Given the description of an element on the screen output the (x, y) to click on. 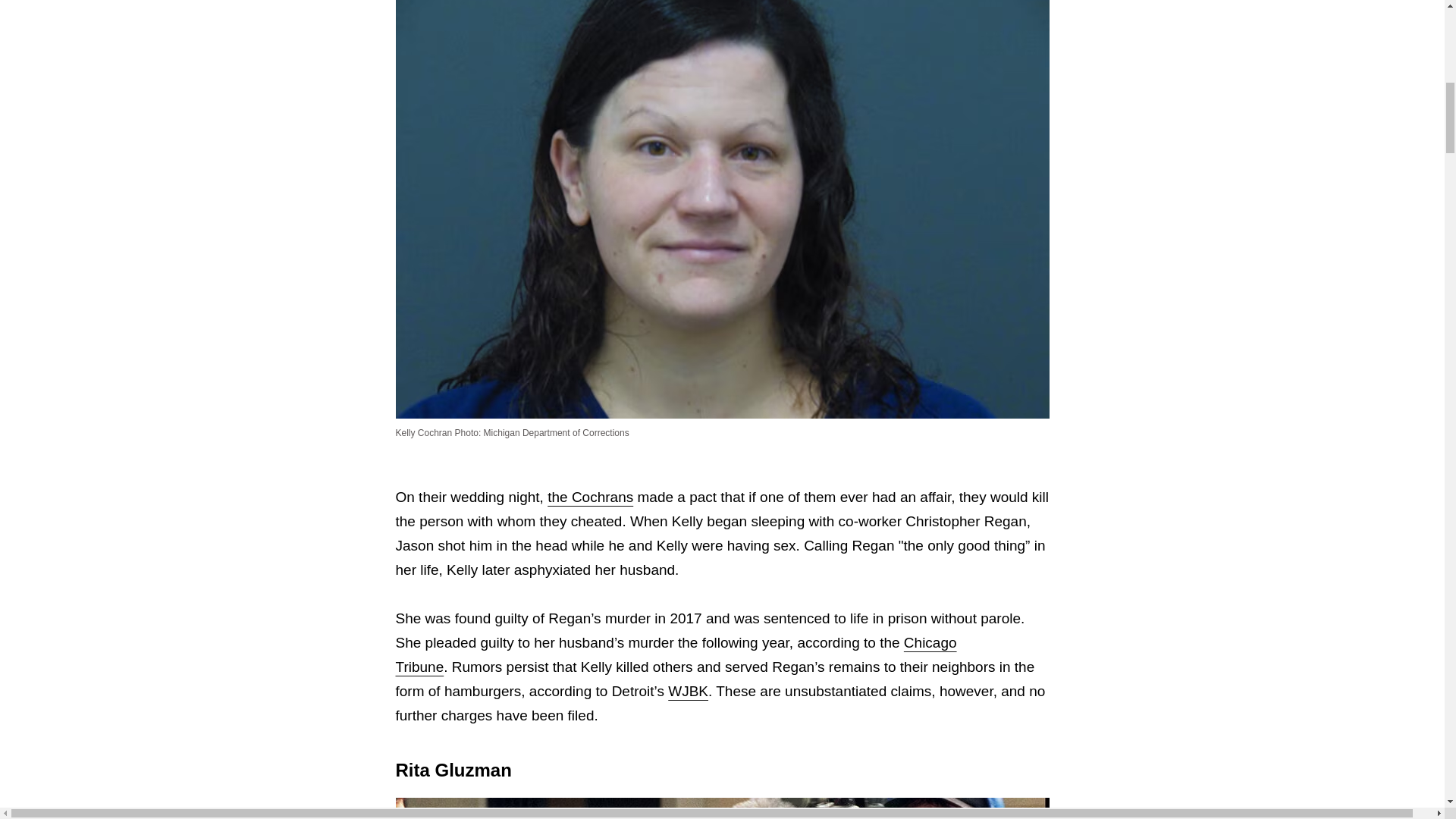
WJBK (687, 691)
Chicago Tribune (676, 654)
the Cochrans (590, 496)
